Given the description of an element on the screen output the (x, y) to click on. 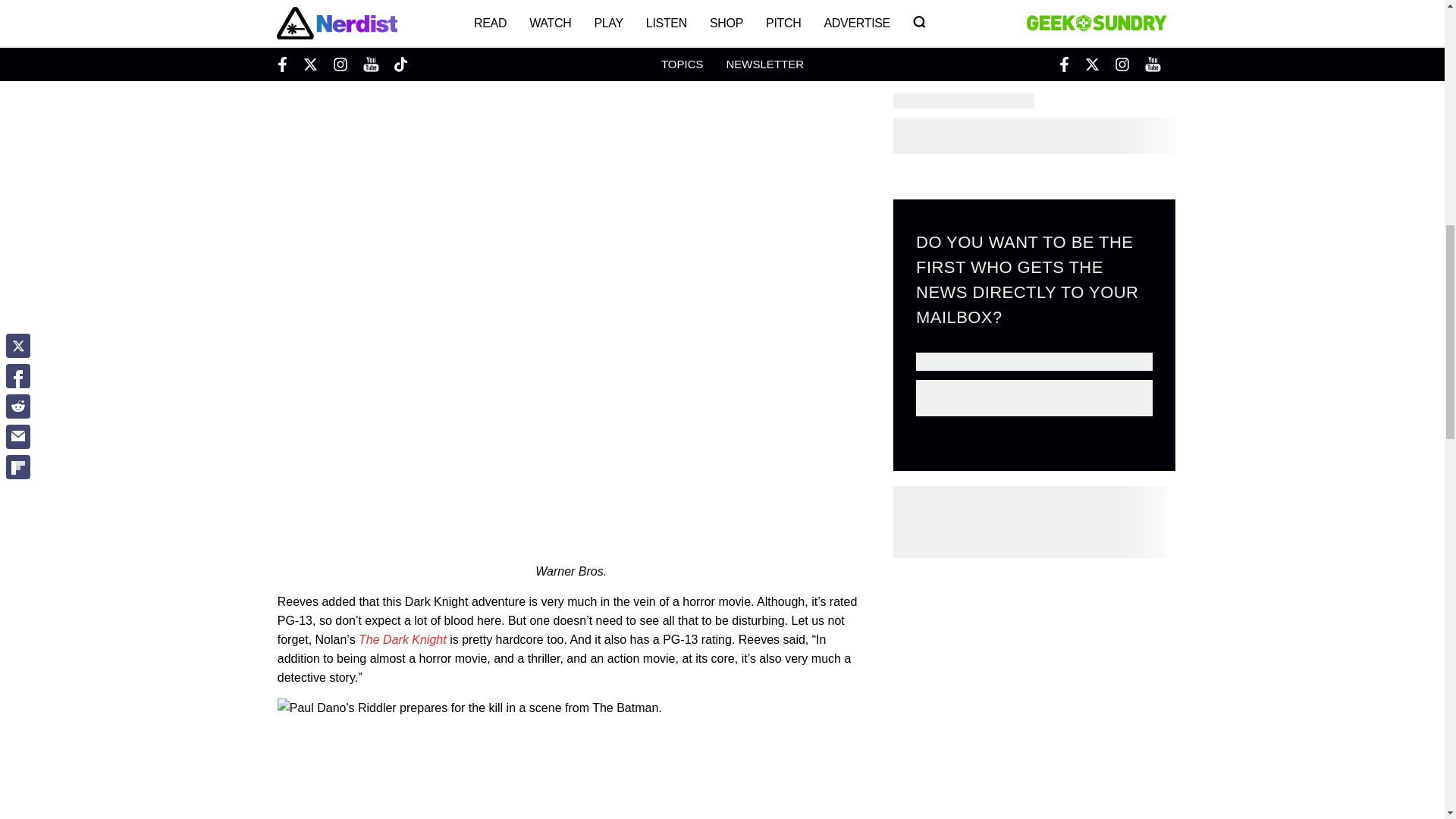
The Dark Knight (402, 639)
